Given the description of an element on the screen output the (x, y) to click on. 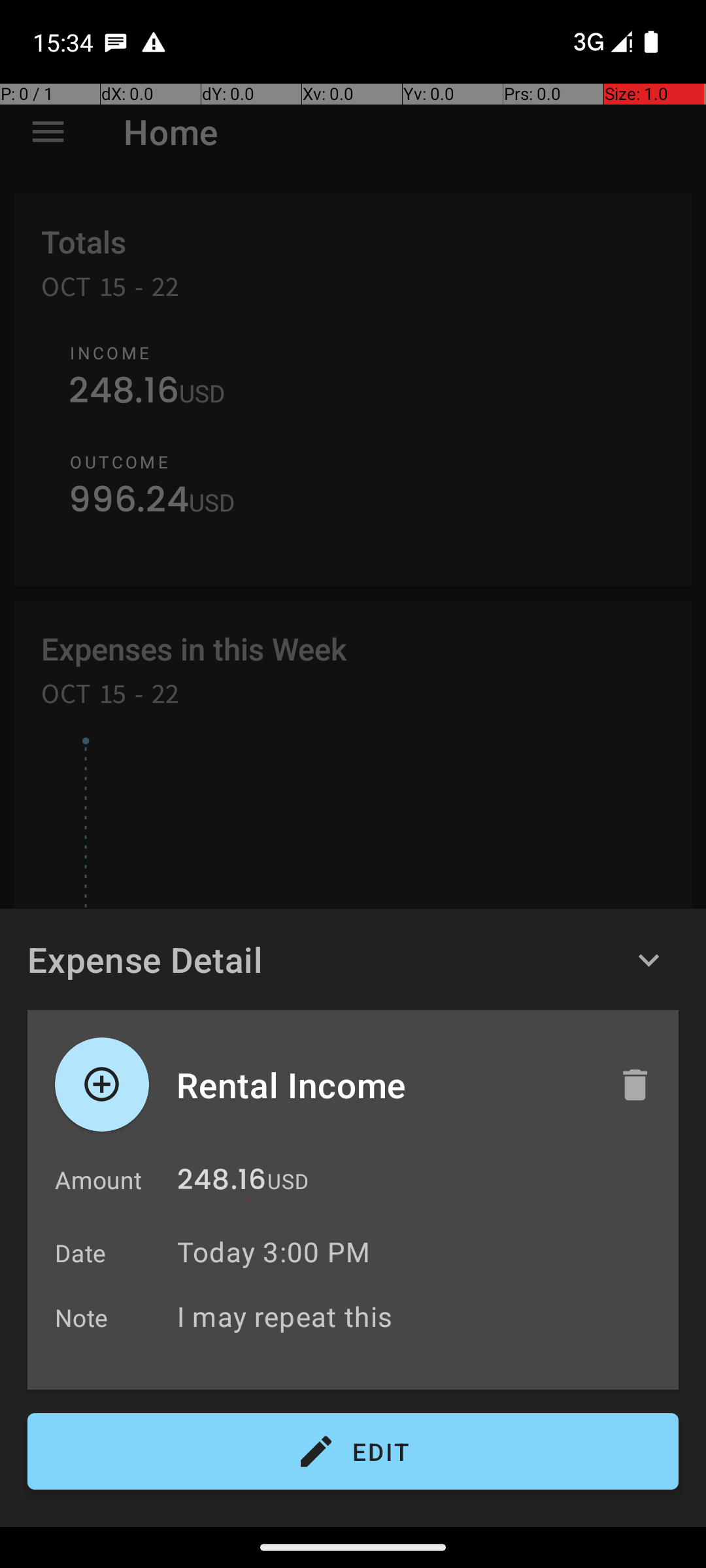
Rental Income Element type: android.widget.TextView (383, 1084)
248.16 Element type: android.widget.TextView (221, 1182)
Today 3:00 PM Element type: android.widget.TextView (273, 1251)
I may repeat this Element type: android.widget.TextView (420, 1315)
